Given the description of an element on the screen output the (x, y) to click on. 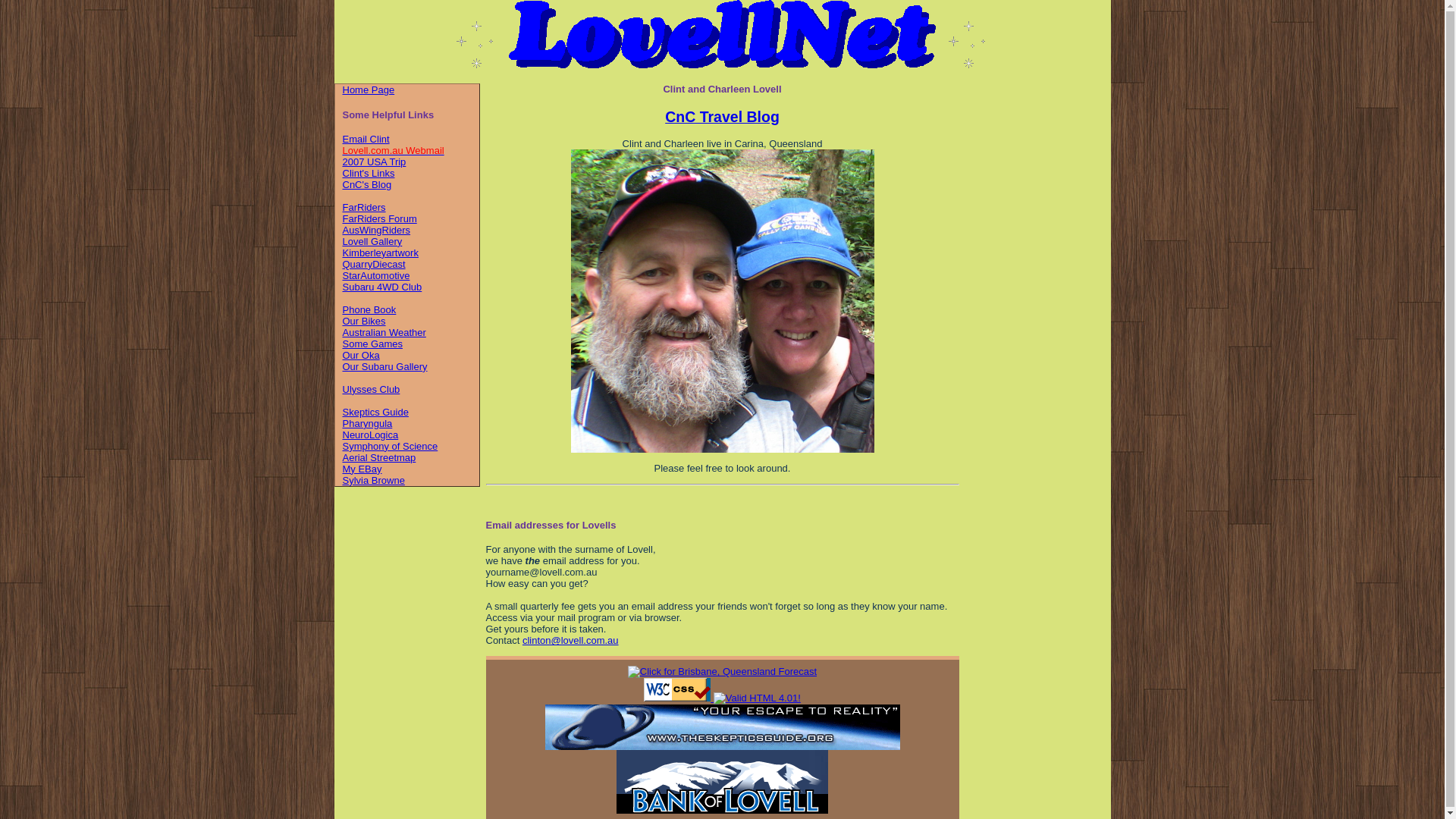
Pharyngula Element type: text (367, 423)
Subaru 4WD Club Element type: text (382, 286)
QuarryDiecast Element type: text (373, 263)
Kimberleyartwork Element type: text (380, 252)
My EBay Element type: text (362, 468)
Symphony of Science Element type: text (390, 445)
clinton@lovell.com.au Element type: text (570, 640)
Ulysses Club Element type: text (371, 389)
Sylvia Browne Element type: text (373, 480)
Home Page Element type: text (368, 89)
Email Clint Element type: text (365, 138)
Our Oka Element type: text (360, 354)
FarRiders Forum Element type: text (379, 218)
NeuroLogica Element type: text (370, 434)
AusWingRiders Element type: text (376, 229)
Some Games Element type: text (372, 343)
Aerial Streetmap Element type: text (379, 457)
Lovell.com.au Webmail Element type: text (393, 150)
Australian Weather Element type: text (384, 332)
FarRiders Element type: text (363, 207)
Lovell Gallery Element type: text (372, 241)
Our Subaru Gallery Element type: text (384, 366)
StarAutomotive Element type: text (376, 275)
CnC Travel Blog Element type: text (722, 116)
2007 USA Trip Element type: text (374, 161)
Our Bikes Element type: text (363, 320)
Clint's Links Element type: text (368, 172)
Phone Book Element type: text (369, 309)
CnC's Blog Element type: text (367, 184)
Skeptics Guide Element type: text (375, 411)
